Given the description of an element on the screen output the (x, y) to click on. 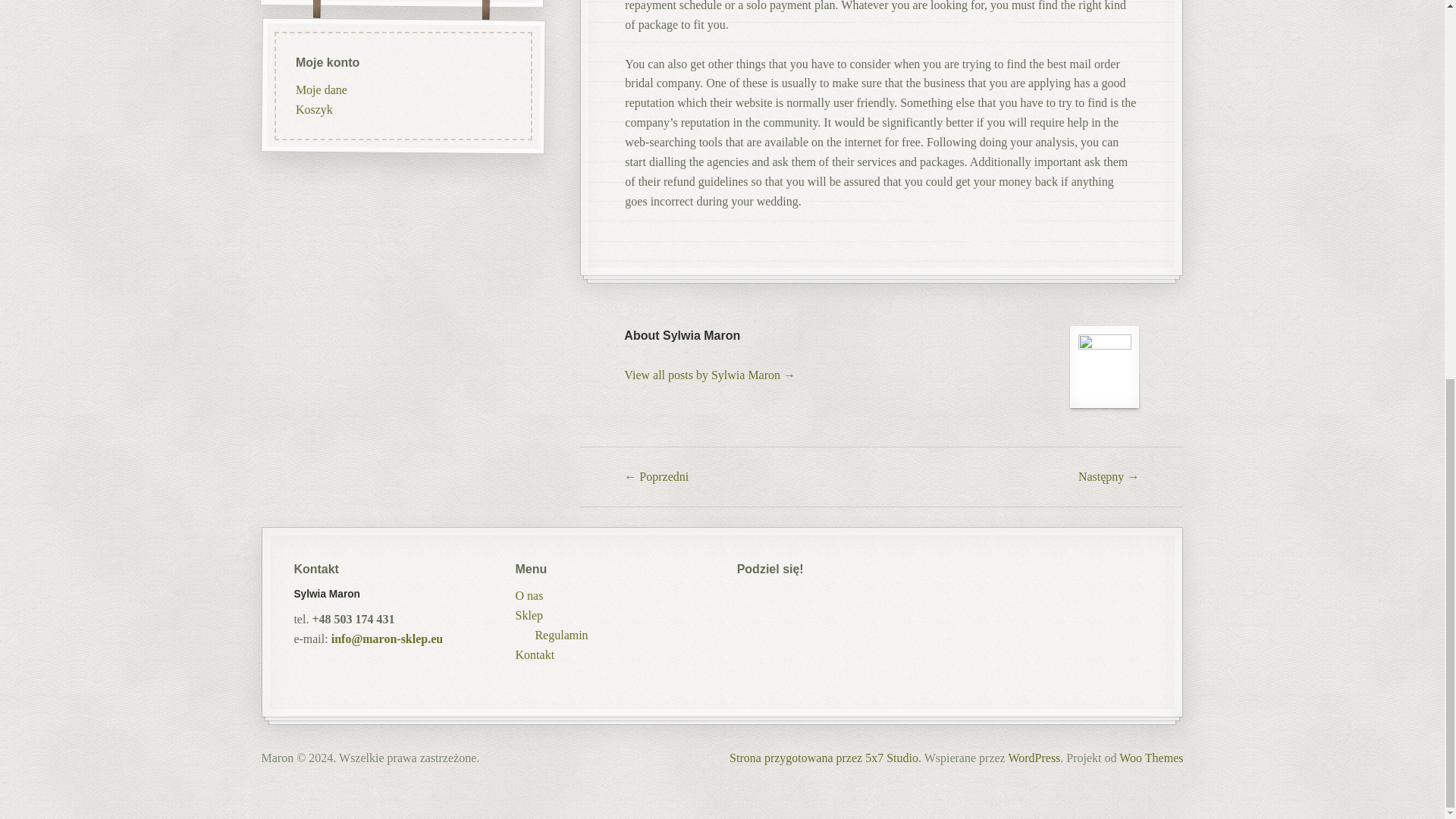
Regulamin (561, 634)
Moje dane (320, 88)
Koszyk (313, 108)
WordPress (1033, 757)
Sklep (529, 615)
O nas (529, 594)
Kontakt (534, 654)
Strona przygotowana przez 5x7 Studio. (825, 757)
